Given the description of an element on the screen output the (x, y) to click on. 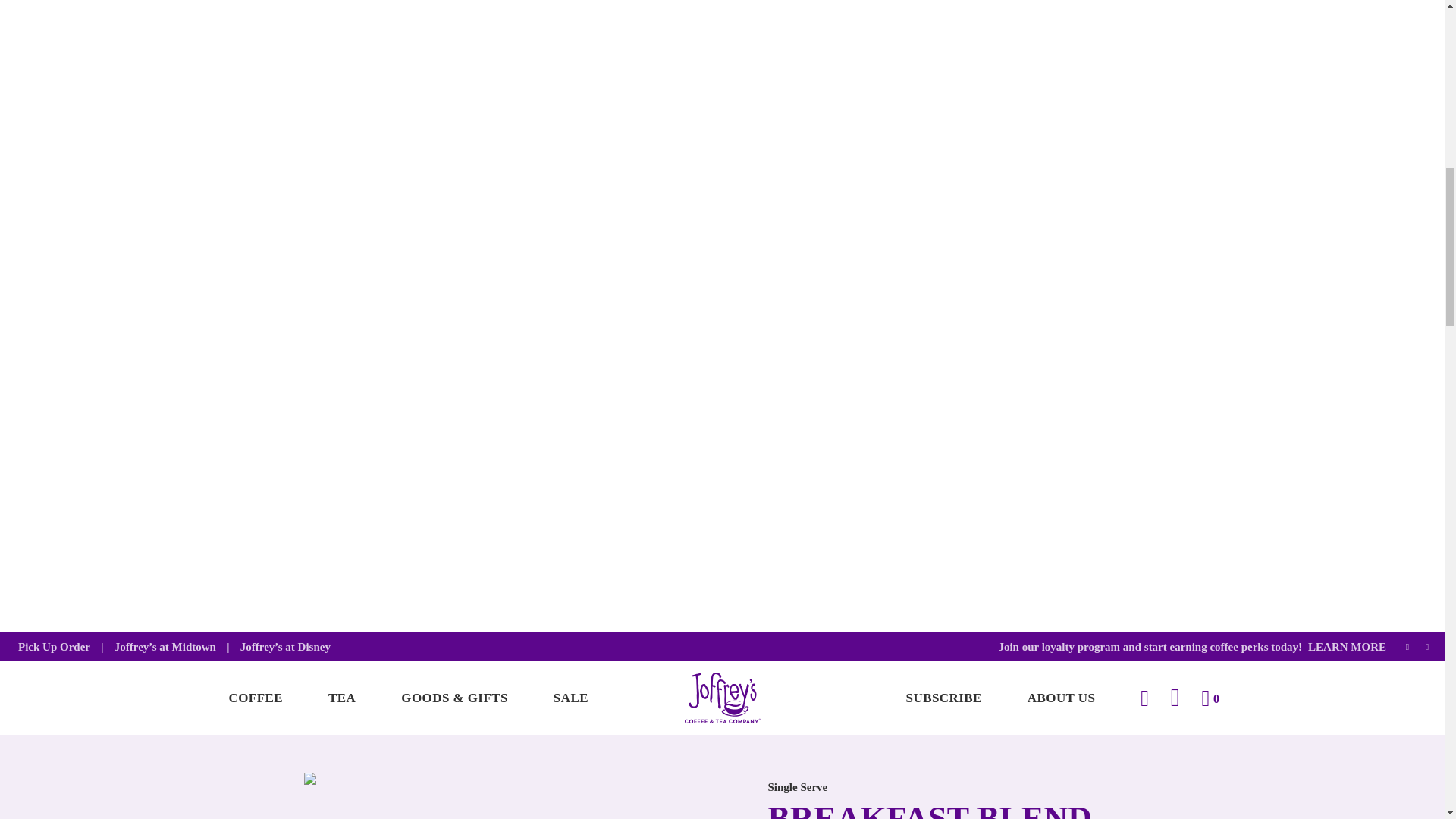
COFFEE (255, 697)
LEARN MORE (1343, 646)
Pick Up Order (53, 646)
Tea (341, 697)
TEA (341, 697)
sale (571, 697)
Coffee (255, 697)
SALE (571, 697)
SUBSCRIBE (943, 697)
